Given the description of an element on the screen output the (x, y) to click on. 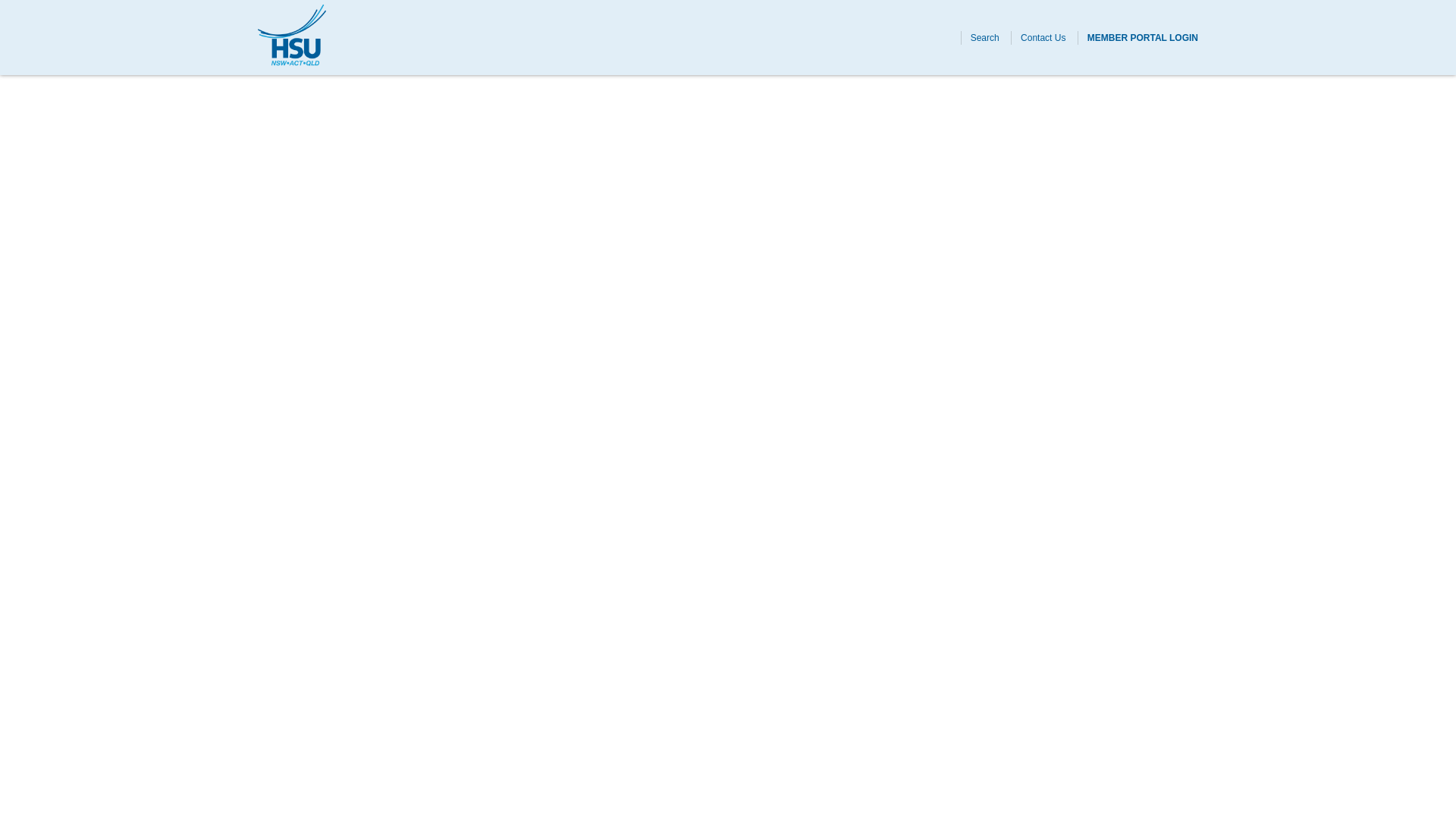
MEMBER PORTAL LOGIN (1142, 36)
Contact Us (1042, 36)
Search (984, 36)
